Given the description of an element on the screen output the (x, y) to click on. 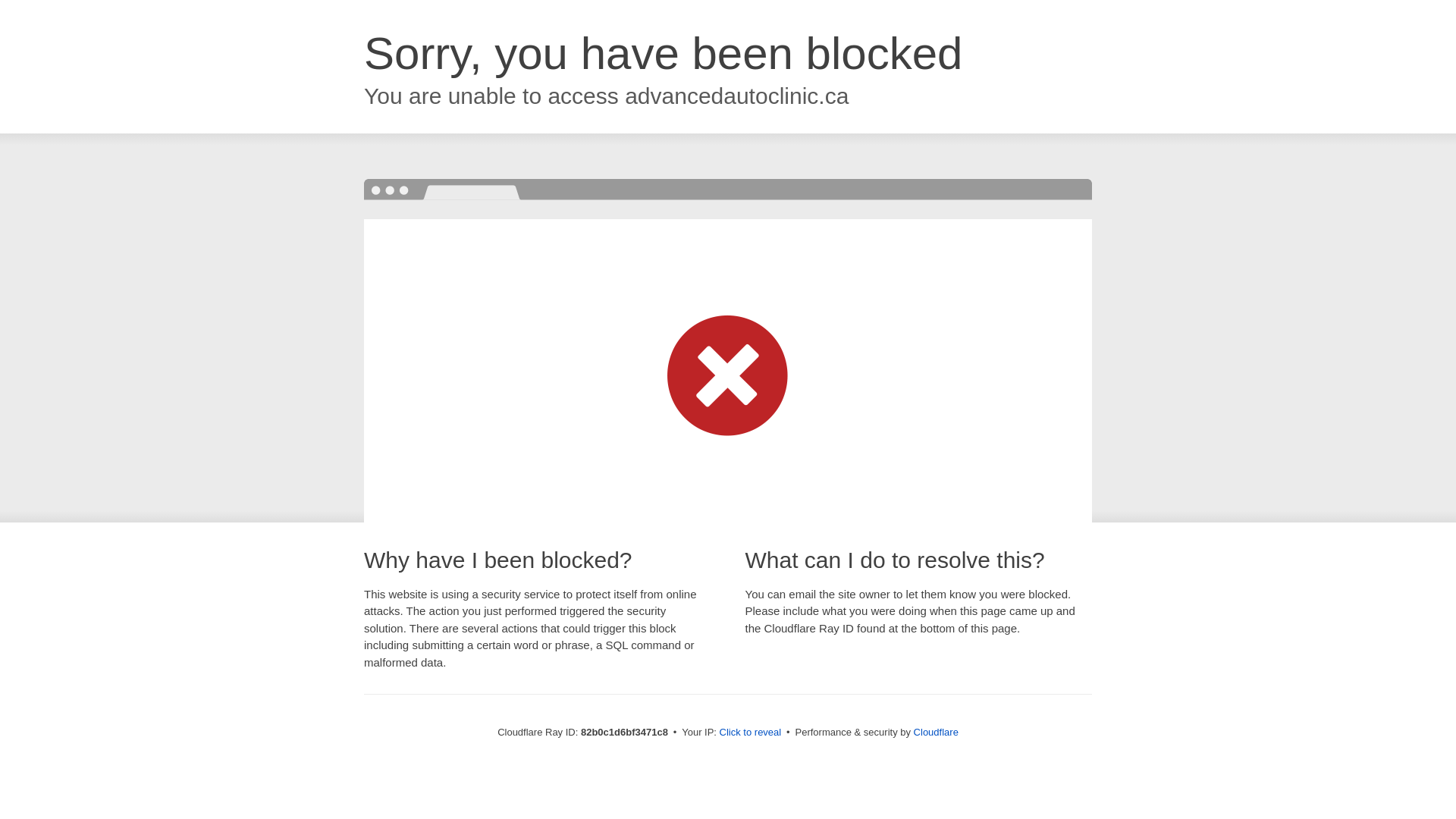
Cloudflare Element type: text (935, 731)
Click to reveal Element type: text (750, 732)
